Given the description of an element on the screen output the (x, y) to click on. 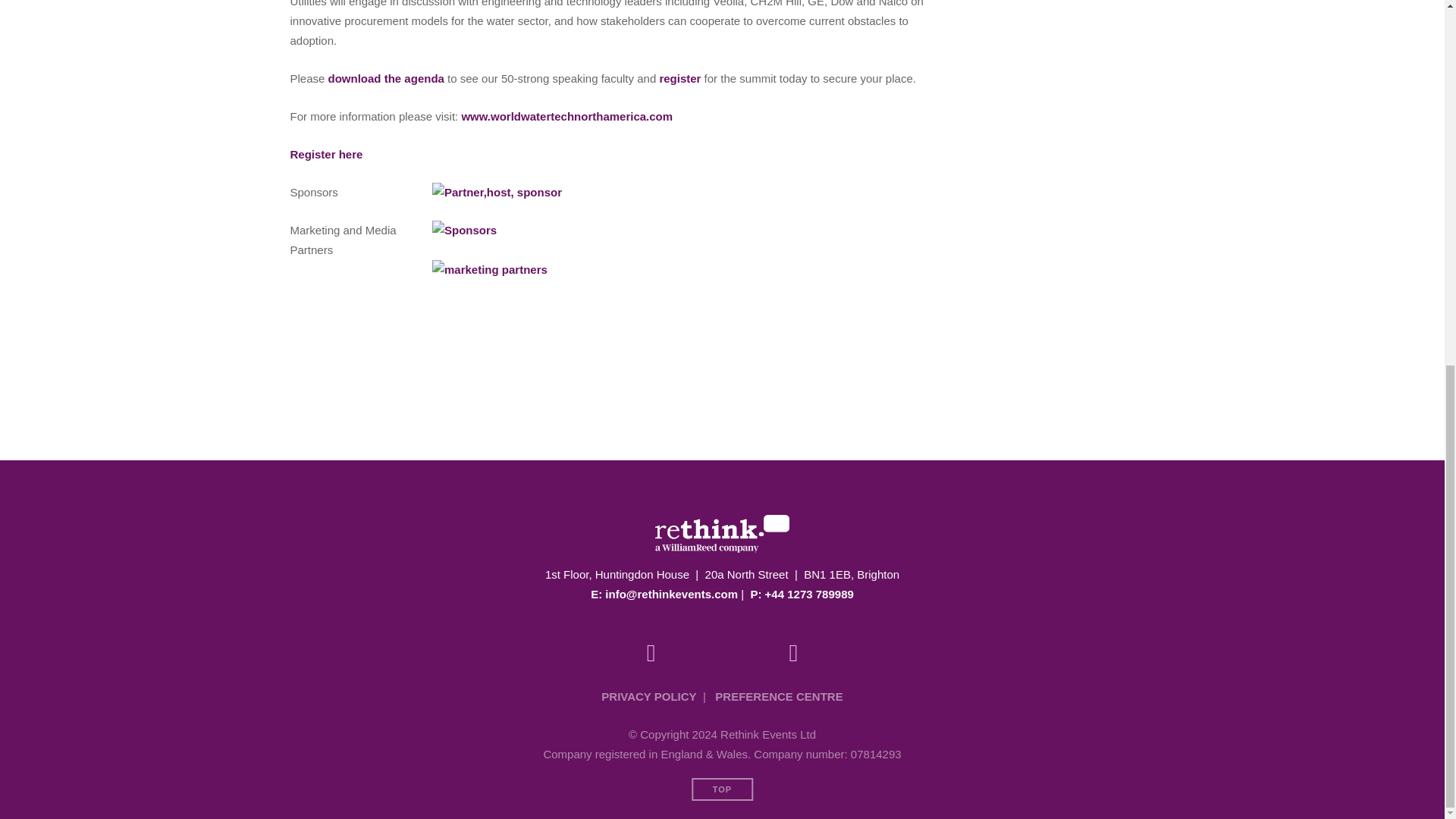
Register here (325, 154)
register (679, 78)
download the agenda (386, 78)
www.worldwatertechnorthamerica.com (566, 115)
